Given the description of an element on the screen output the (x, y) to click on. 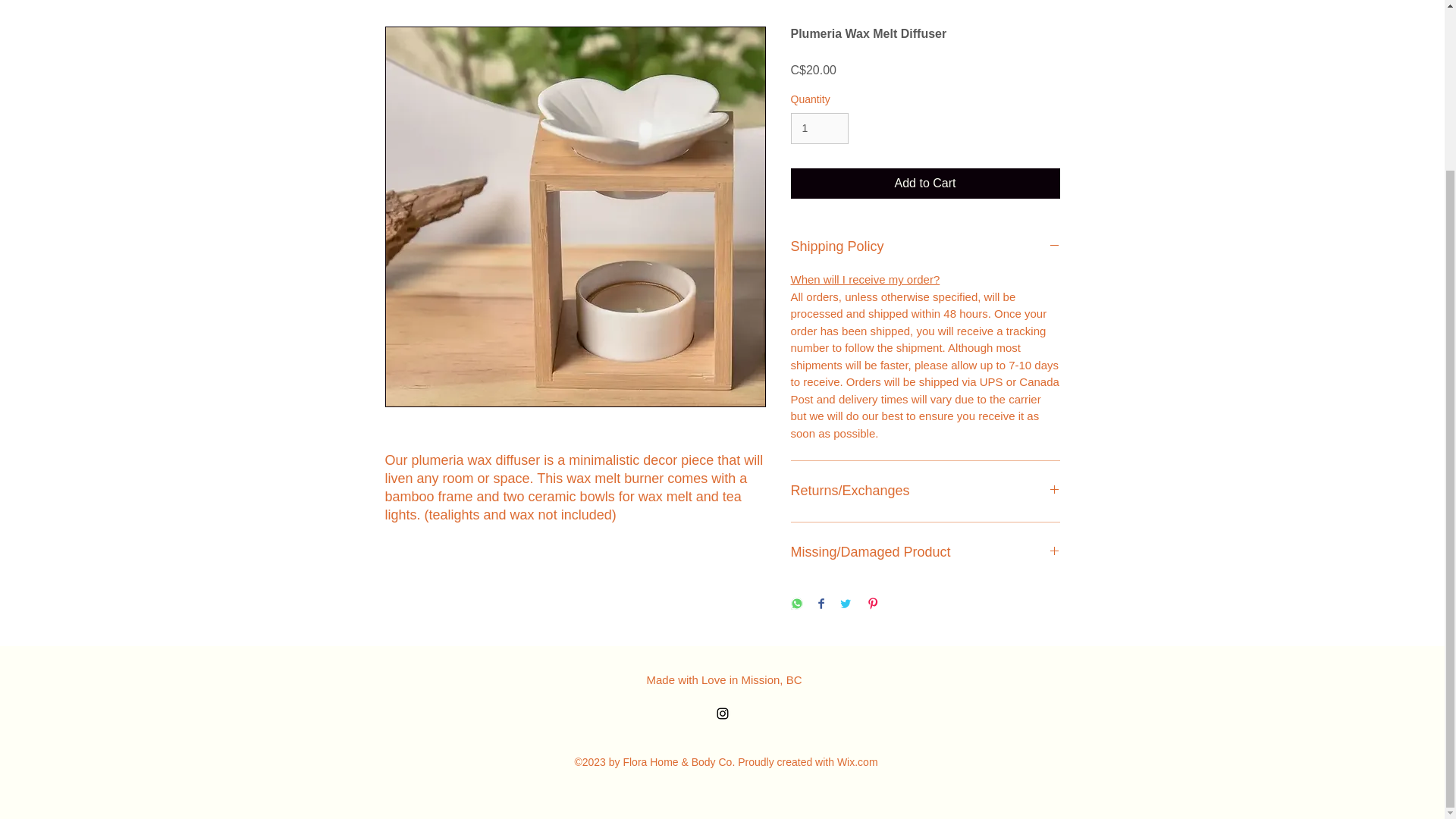
Add to Cart (924, 183)
Shipping Policy (924, 247)
1 (818, 128)
